Given the description of an element on the screen output the (x, y) to click on. 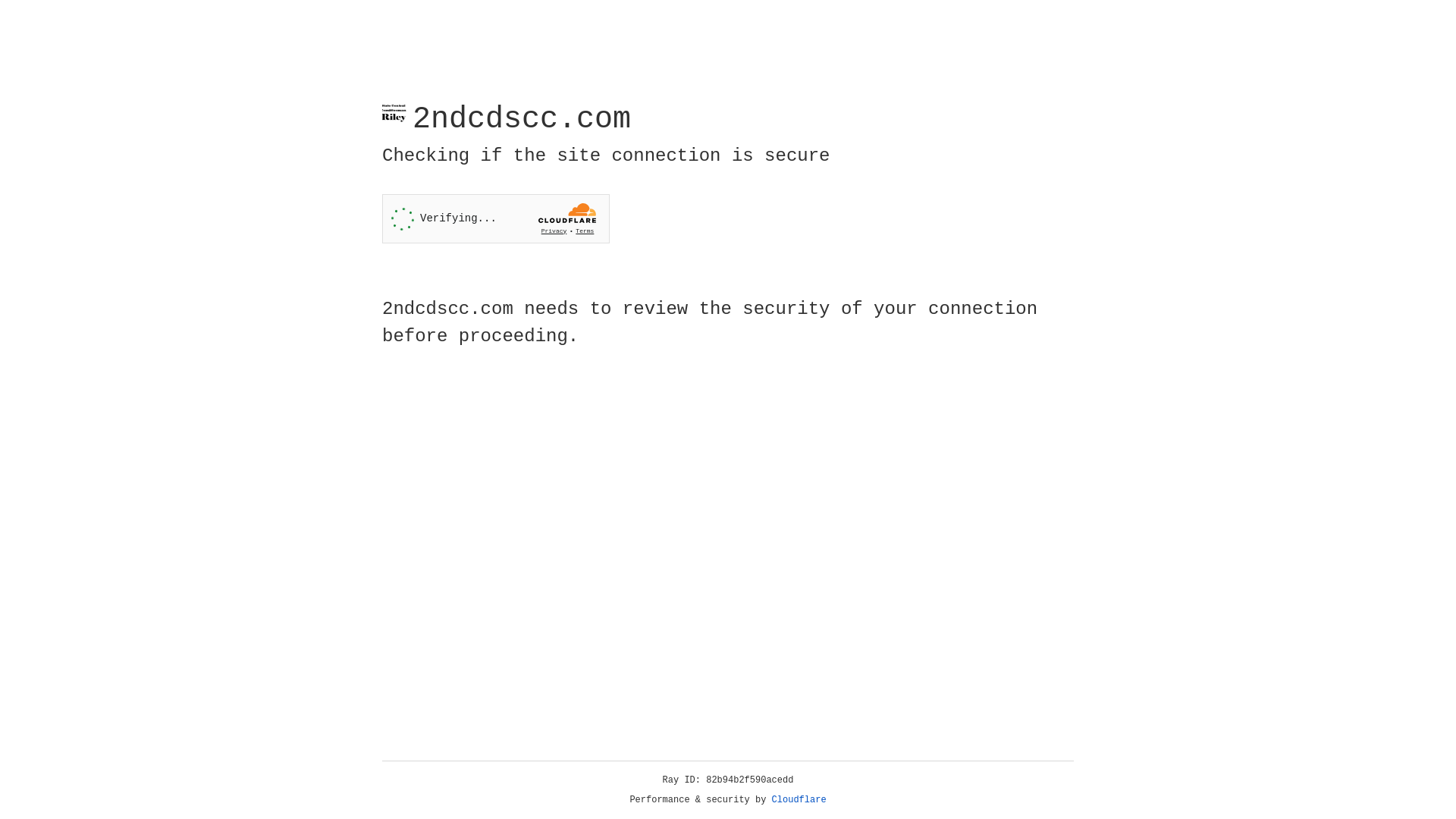
Cloudflare Element type: text (798, 799)
Widget containing a Cloudflare security challenge Element type: hover (495, 218)
